Given the description of an element on the screen output the (x, y) to click on. 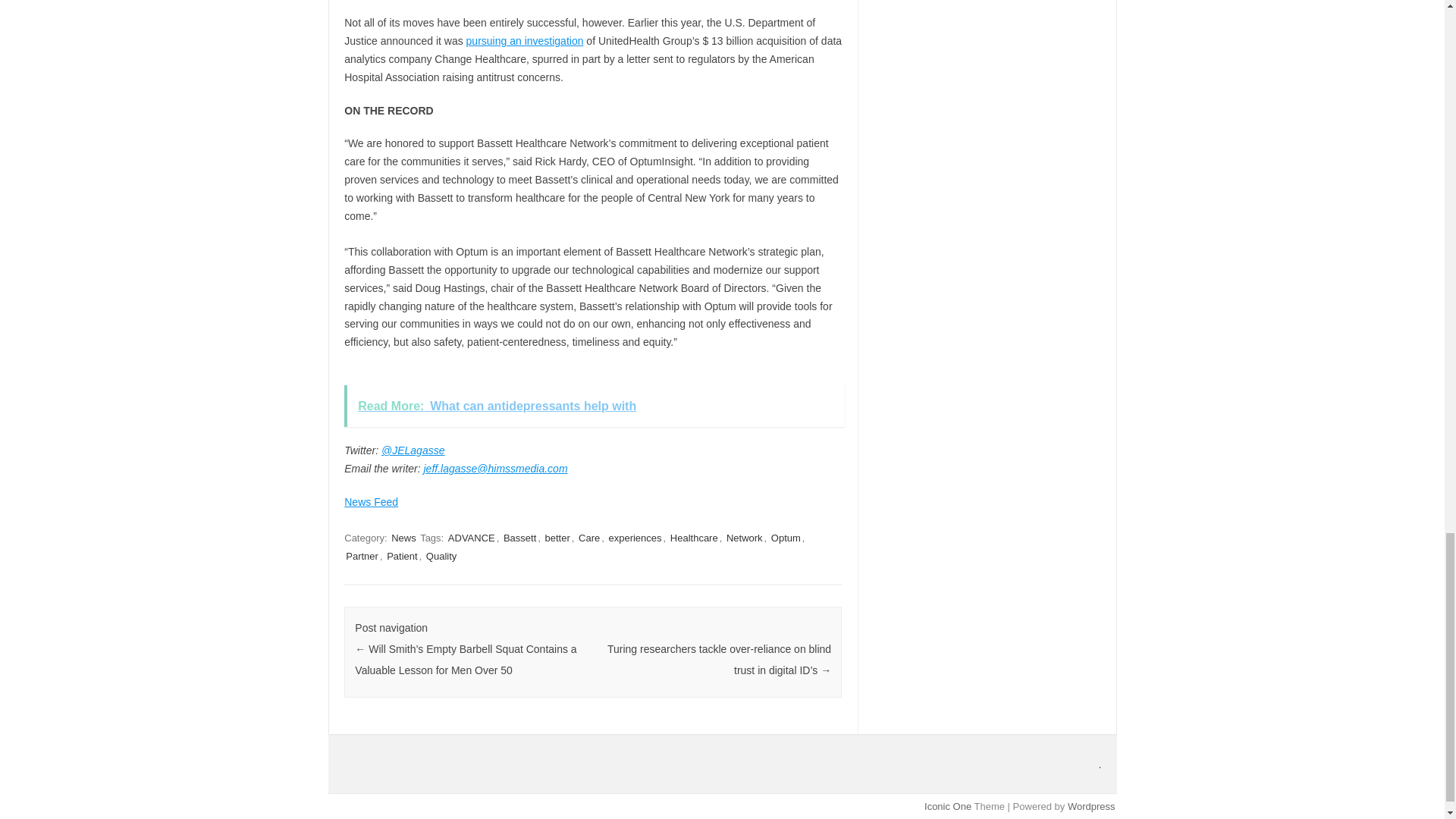
Partner (361, 555)
News Feed (370, 501)
experiences (634, 537)
Read More:  What can antidepressants help with (593, 405)
Healthcare (693, 537)
better (557, 537)
Quality (441, 555)
Care (588, 537)
Bassett (519, 537)
ADVANCE (471, 537)
pursuing an investigation (524, 40)
Patient (402, 555)
Optum (786, 537)
News (403, 537)
Network (744, 537)
